Given the description of an element on the screen output the (x, y) to click on. 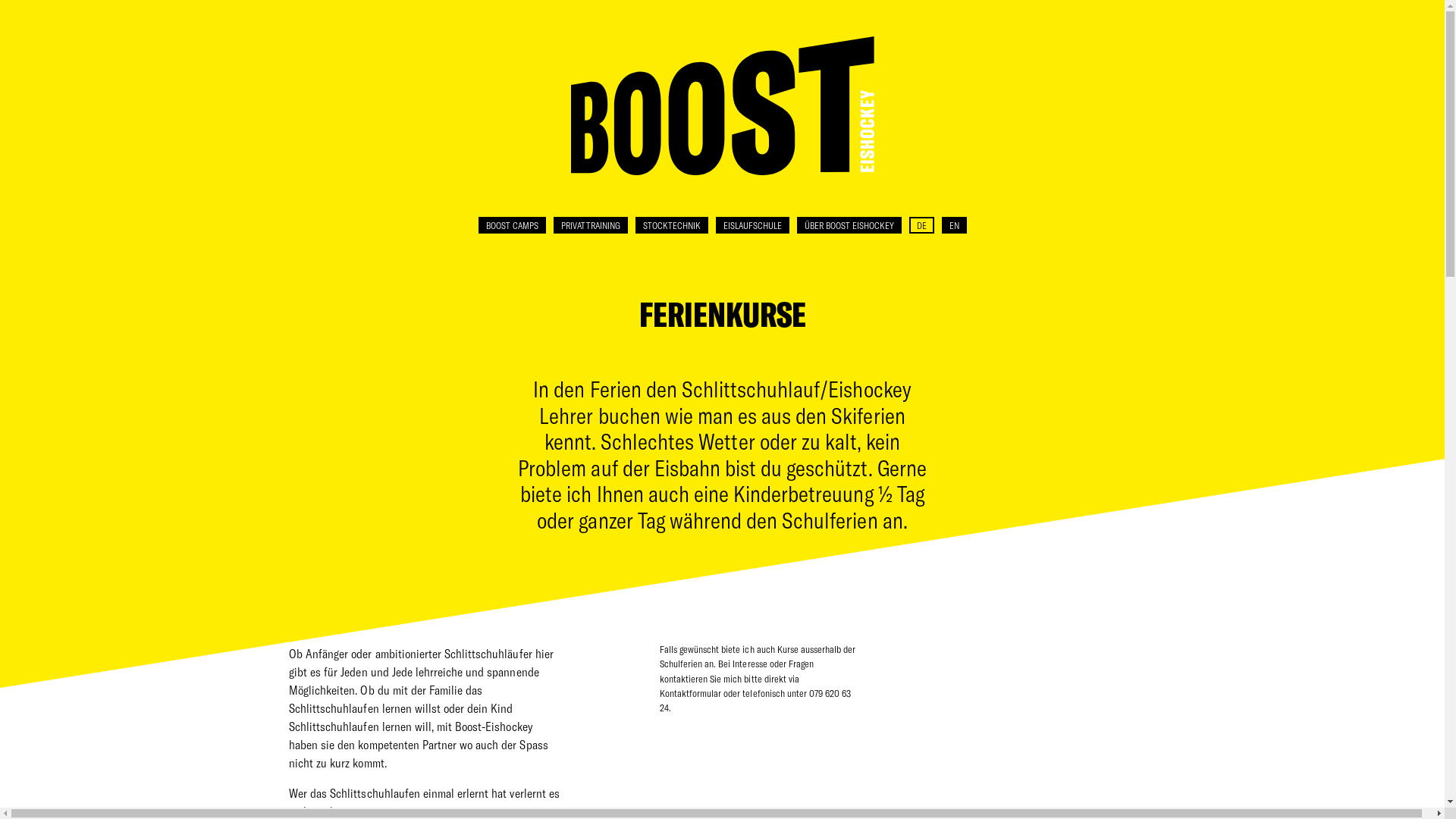
EISLAUFSCHULE Element type: text (752, 224)
EN Element type: text (954, 224)
DE Element type: text (920, 224)
STOCKTECHNIK Element type: text (671, 224)
PRIVATTRAINING Element type: text (590, 224)
BOOST CAMPS Element type: text (511, 224)
